Given the description of an element on the screen output the (x, y) to click on. 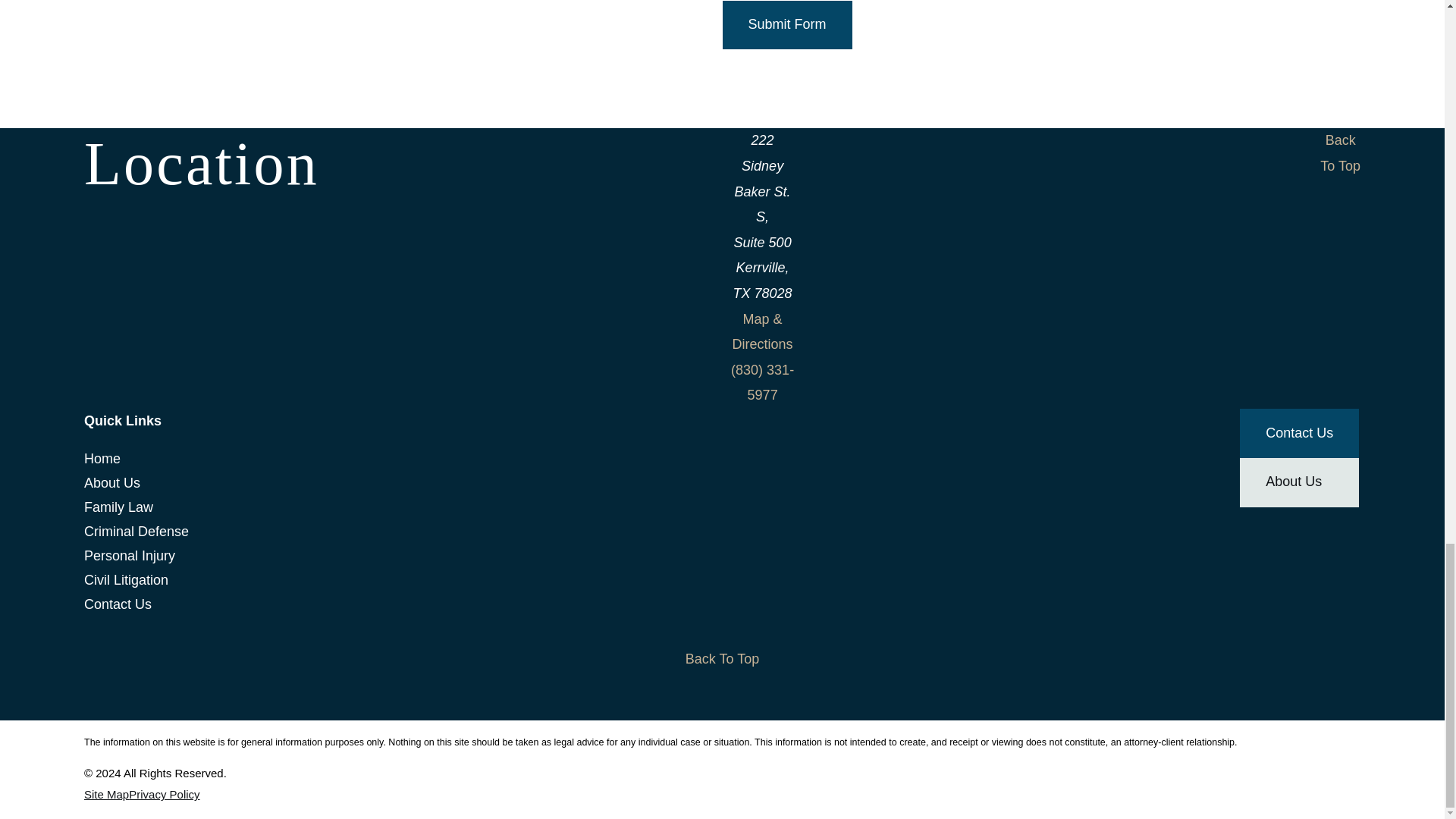
Personal Injury (296, 555)
Home (296, 458)
Submit Form (786, 24)
About Us (296, 482)
Criminal Defense (296, 531)
Family Law (296, 507)
